Given the description of an element on the screen output the (x, y) to click on. 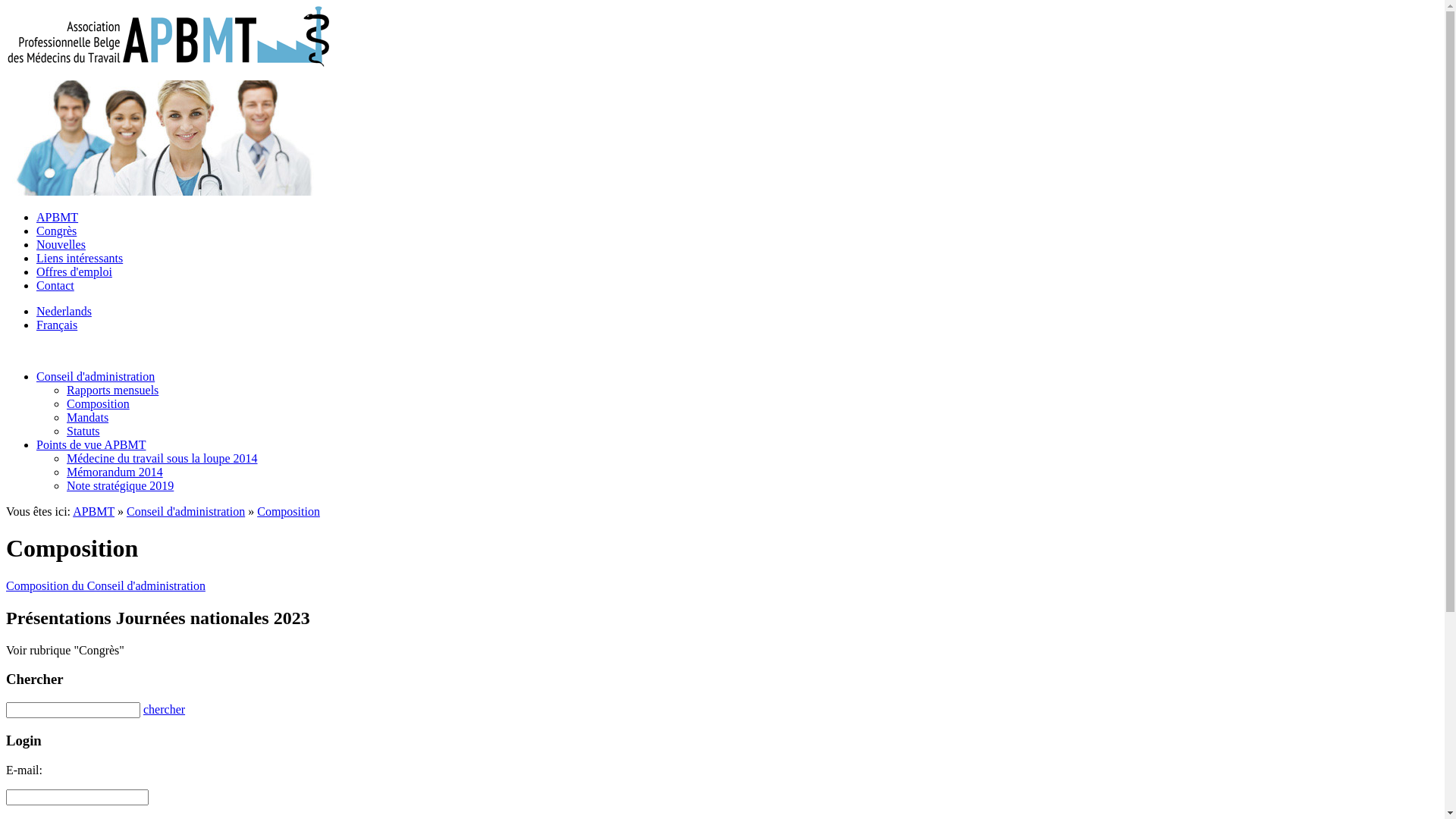
Statuts Element type: text (83, 430)
Nouvelles Element type: text (60, 244)
Points de vue APBMT Element type: text (90, 444)
Nederlands Element type: text (63, 310)
Composition du Conseil d'administration Element type: text (105, 585)
Conseil d'administration Element type: text (95, 376)
APBMT Element type: text (93, 511)
chercher Element type: text (164, 708)
Offres d'emploi Element type: text (74, 271)
APBMT Element type: text (57, 216)
Conseil d'administration Element type: text (185, 511)
Contact Element type: text (55, 285)
Composition Element type: text (97, 403)
Composition Element type: text (288, 511)
Rapports mensuels Element type: text (112, 389)
Mandats Element type: text (87, 417)
